Given the description of an element on the screen output the (x, y) to click on. 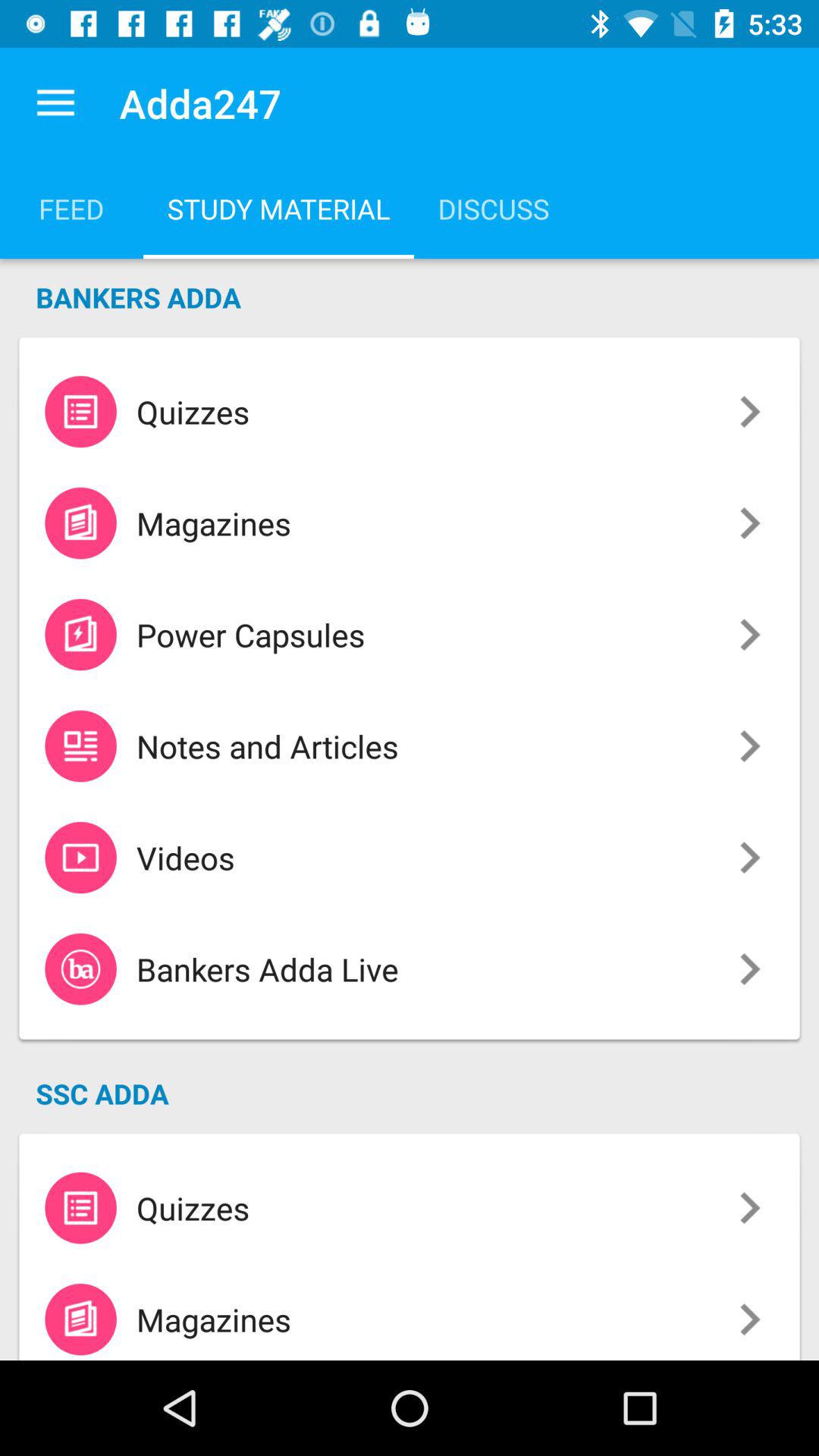
launch the icon to the left of adda247 (55, 103)
